Given the description of an element on the screen output the (x, y) to click on. 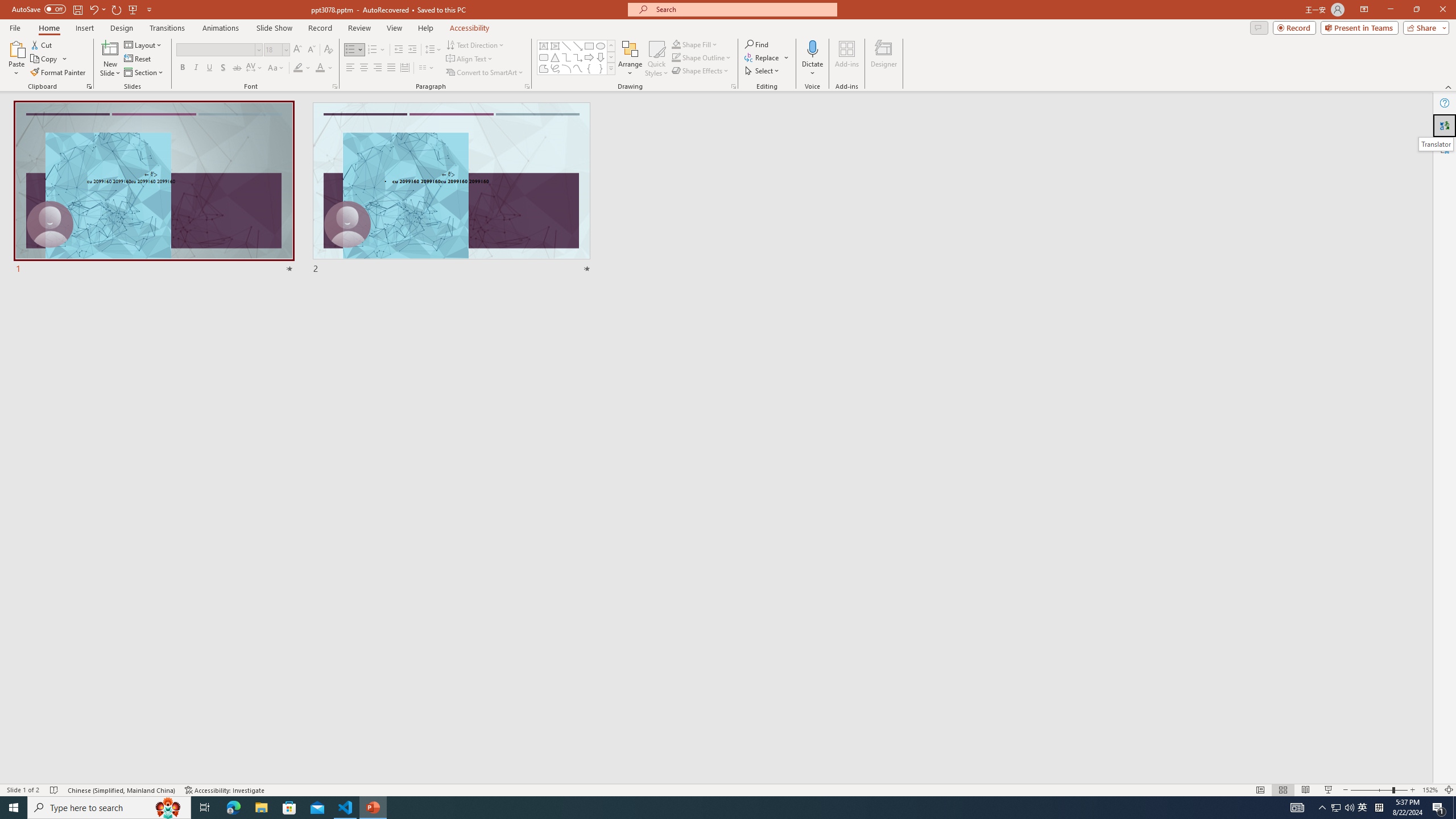
Arrange (630, 58)
Translator (1444, 125)
Cut (42, 44)
Zoom Out (1371, 790)
Find... (756, 44)
Text Direction (476, 44)
Text Highlight Color (302, 67)
Numbering (376, 49)
Justify (390, 67)
Bullets (349, 49)
Font Color Red (320, 67)
Align Text (470, 58)
Zoom to Fit  (1449, 790)
